Given the description of an element on the screen output the (x, y) to click on. 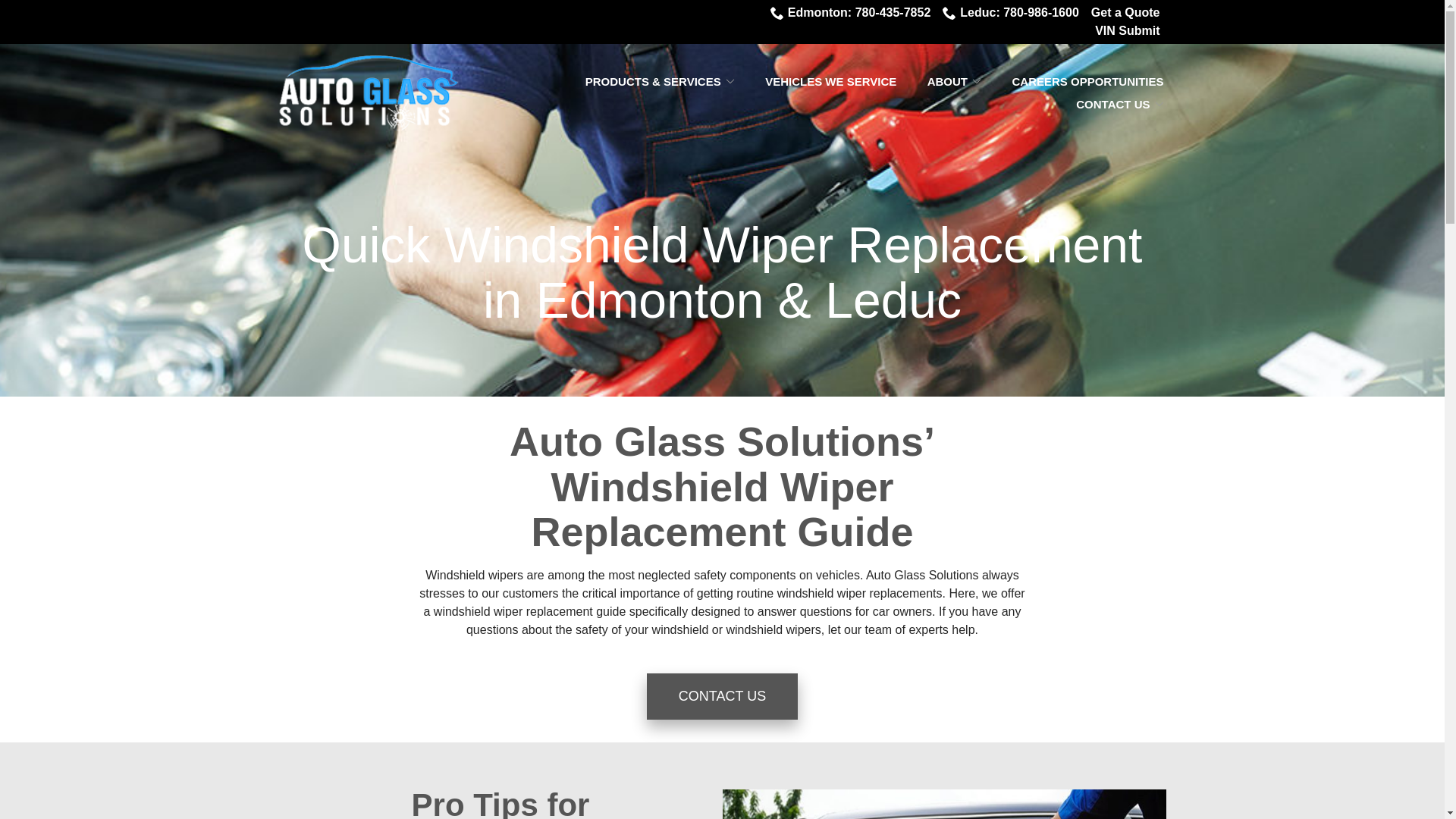
Leduc: 780-986-1600 Element type: text (1010, 12)
CONTACT US Element type: text (1119, 103)
Edmonton: 780-435-7852 Element type: text (850, 12)
Get a Quote Element type: text (1125, 12)
VEHICLES WE SERVICE Element type: text (830, 81)
VIN Submit Element type: text (1127, 30)
PRODUCTS & SERVICES Element type: text (659, 81)
CAREERS OPPORTUNITIES Element type: text (1087, 81)
CONTACT US Element type: text (721, 696)
ABOUT Element type: text (954, 81)
